Given the description of an element on the screen output the (x, y) to click on. 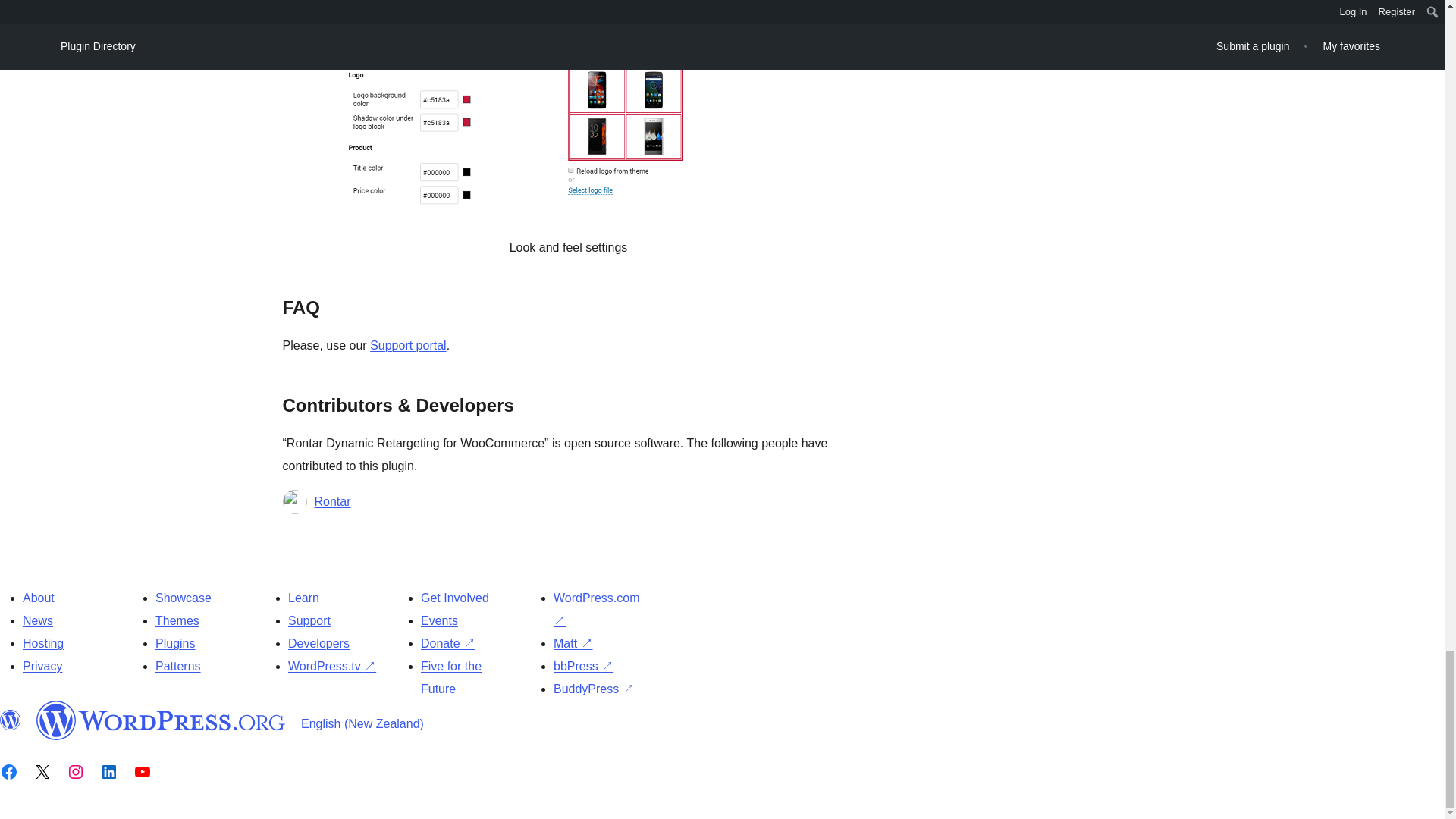
Support portal (407, 345)
WordPress.org (10, 720)
WordPress.org (160, 720)
Rontar (332, 501)
